Given the description of an element on the screen output the (x, y) to click on. 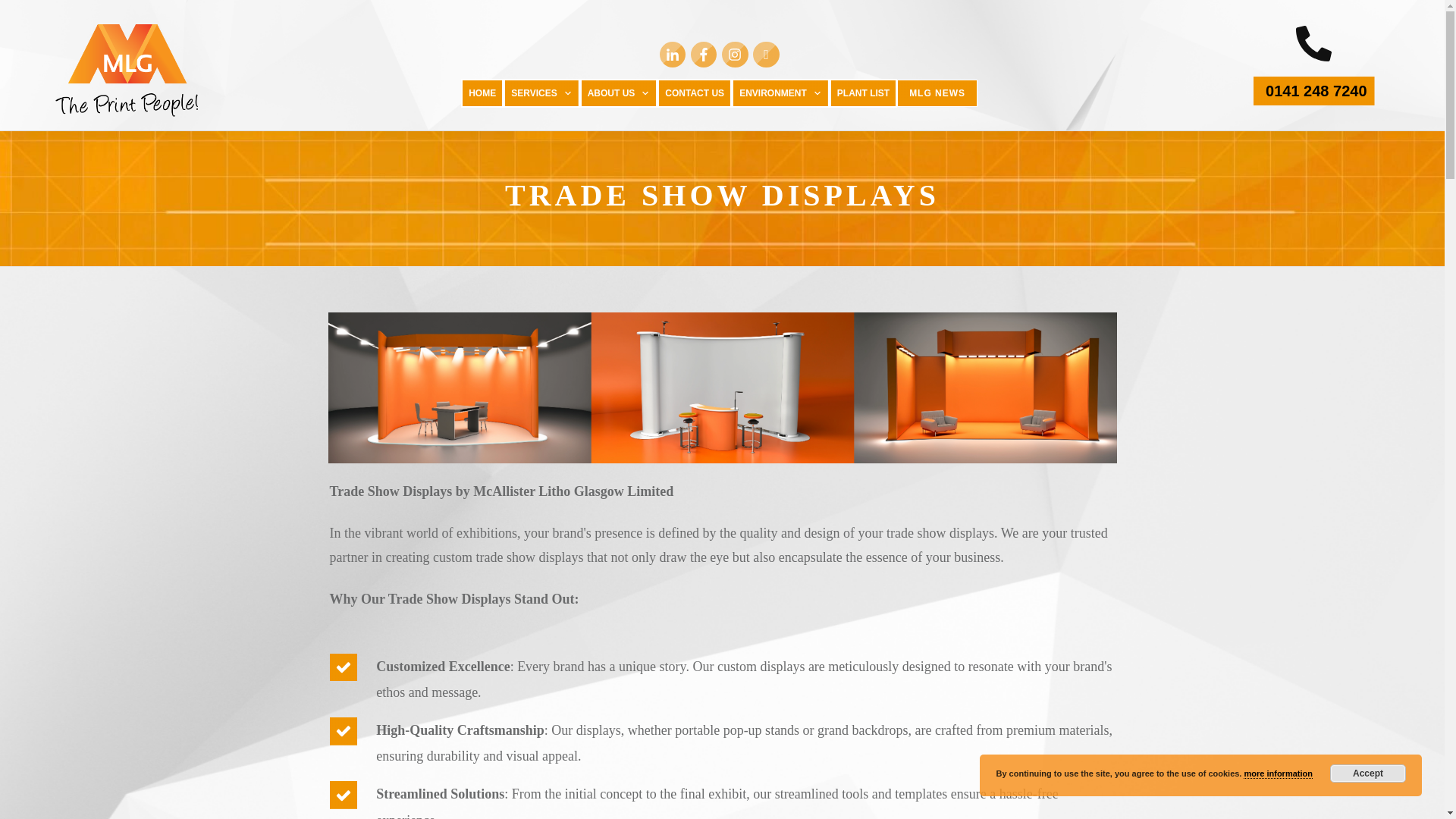
PLANT LIST (863, 93)
 0141 248 7240 (1313, 90)
HOME (482, 93)
trade displays page-1 (721, 387)
CONTACT US (694, 93)
MLG NEWS (936, 93)
ABOUT US (619, 93)
ENVIRONMENT (780, 93)
SERVICES (541, 93)
